Given the description of an element on the screen output the (x, y) to click on. 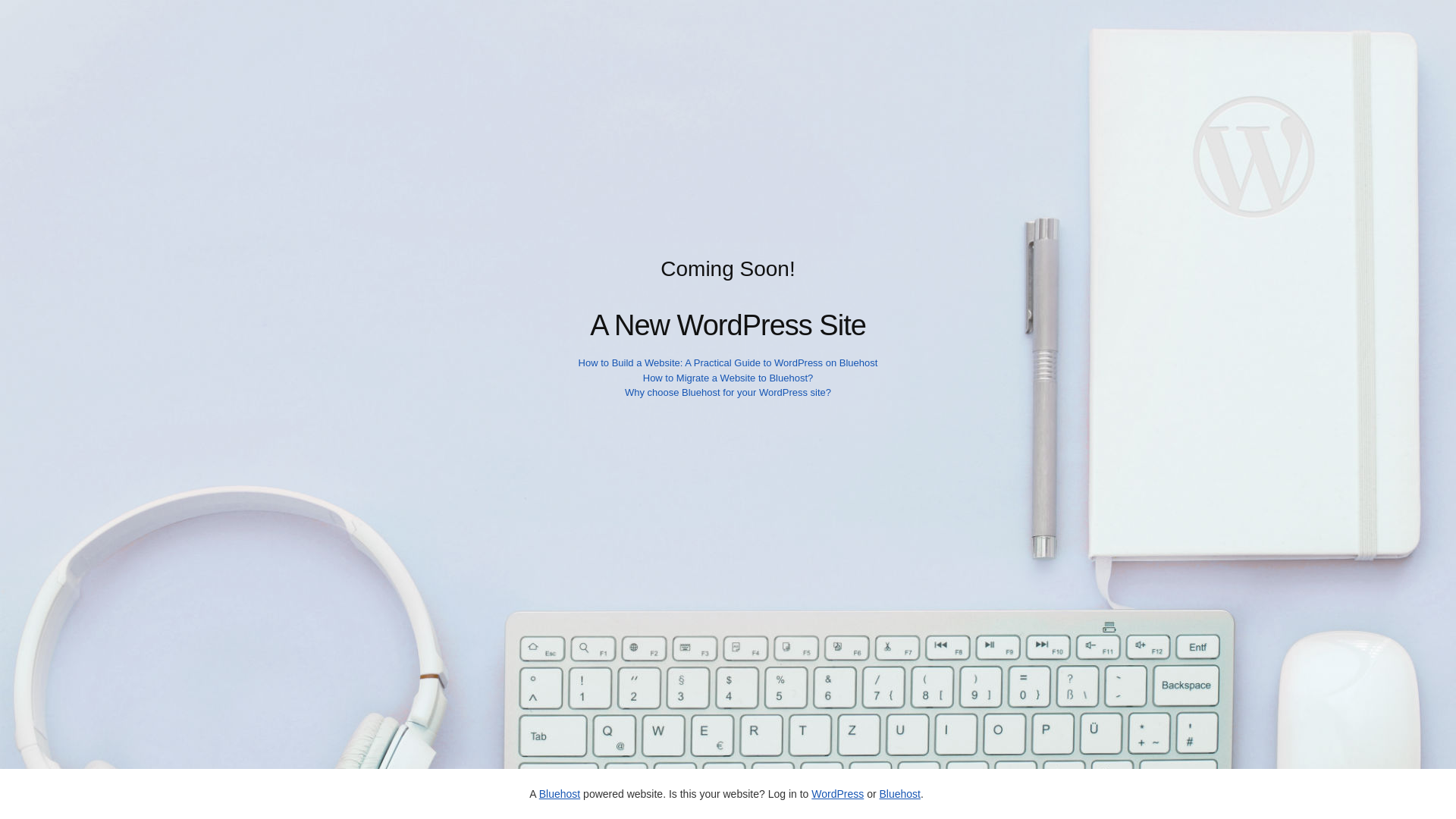
WordPress (836, 793)
Why choose Bluehost for your WordPress site? (727, 392)
How to Migrate a Website to Bluehost? (728, 378)
Bluehost (899, 793)
Bluehost (558, 793)
